Given the description of an element on the screen output the (x, y) to click on. 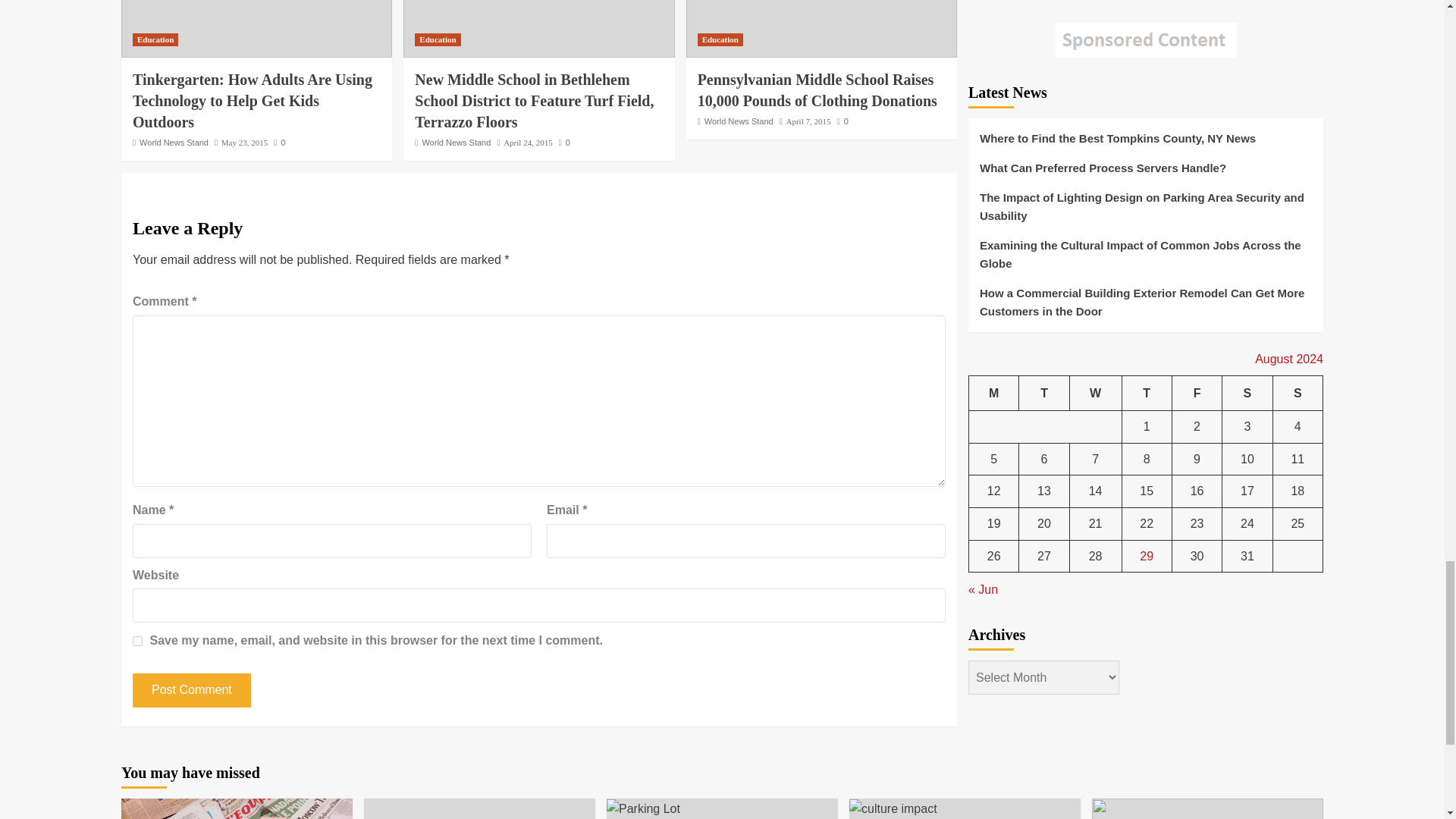
World News Stand (173, 142)
Education (719, 39)
Education (437, 39)
World News Stand (456, 142)
Post Comment (191, 690)
May 23, 2015 (244, 142)
0 (279, 142)
April 24, 2015 (527, 142)
